Given the description of an element on the screen output the (x, y) to click on. 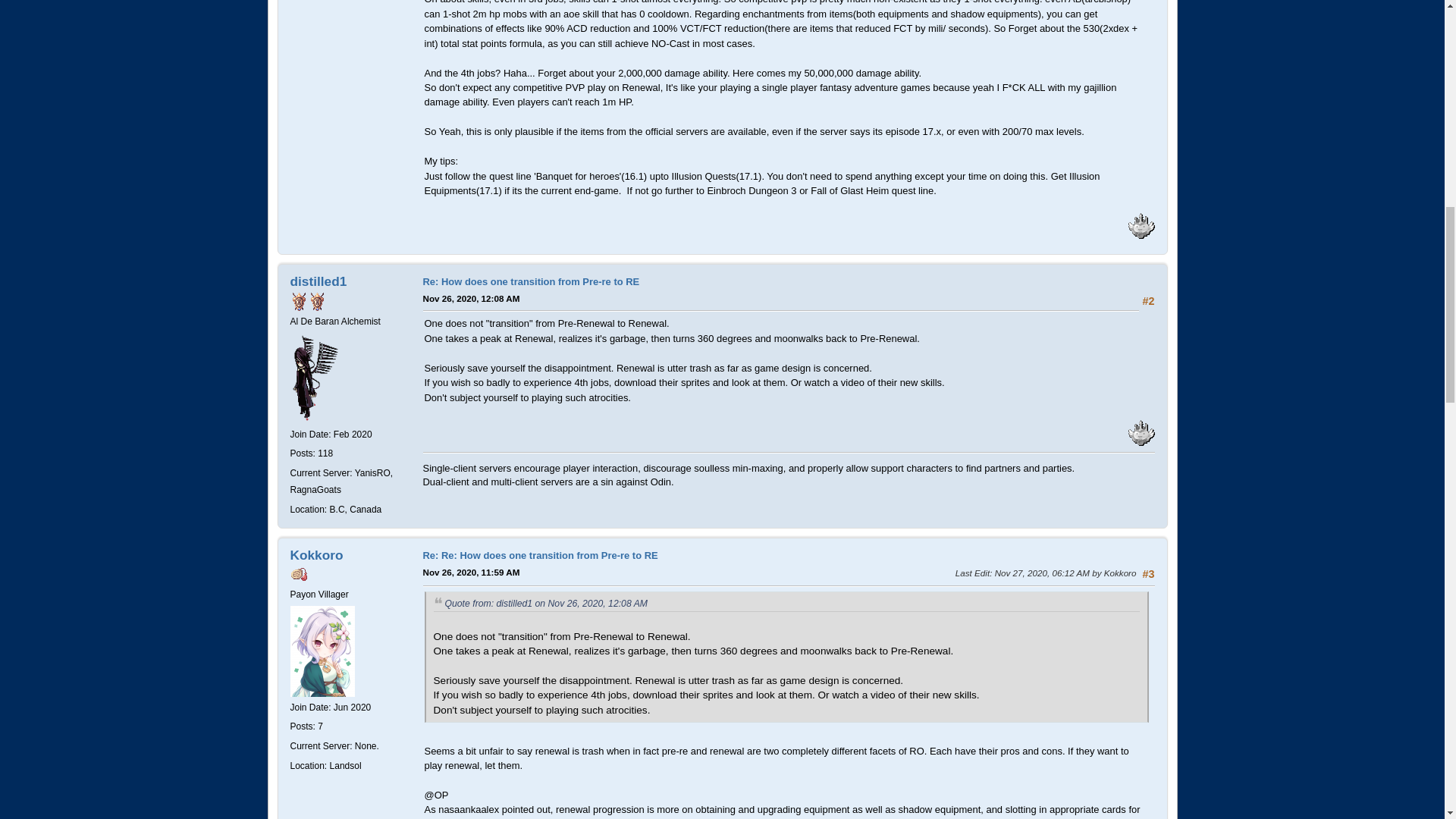
distilled1 (317, 281)
Kokkoro (315, 554)
View the profile of distilled1 (317, 281)
Quote from: distilled1 on Nov 26, 2020, 12:08 AM (545, 603)
Nov 26, 2020, 12:08 AM (471, 298)
Nov 26, 2020, 11:59 AM (471, 572)
Re: Re: How does one transition from Pre-re to RE (540, 555)
View the profile of Kokkoro (315, 554)
Re: How does one transition from Pre-re to RE (531, 281)
